Given the description of an element on the screen output the (x, y) to click on. 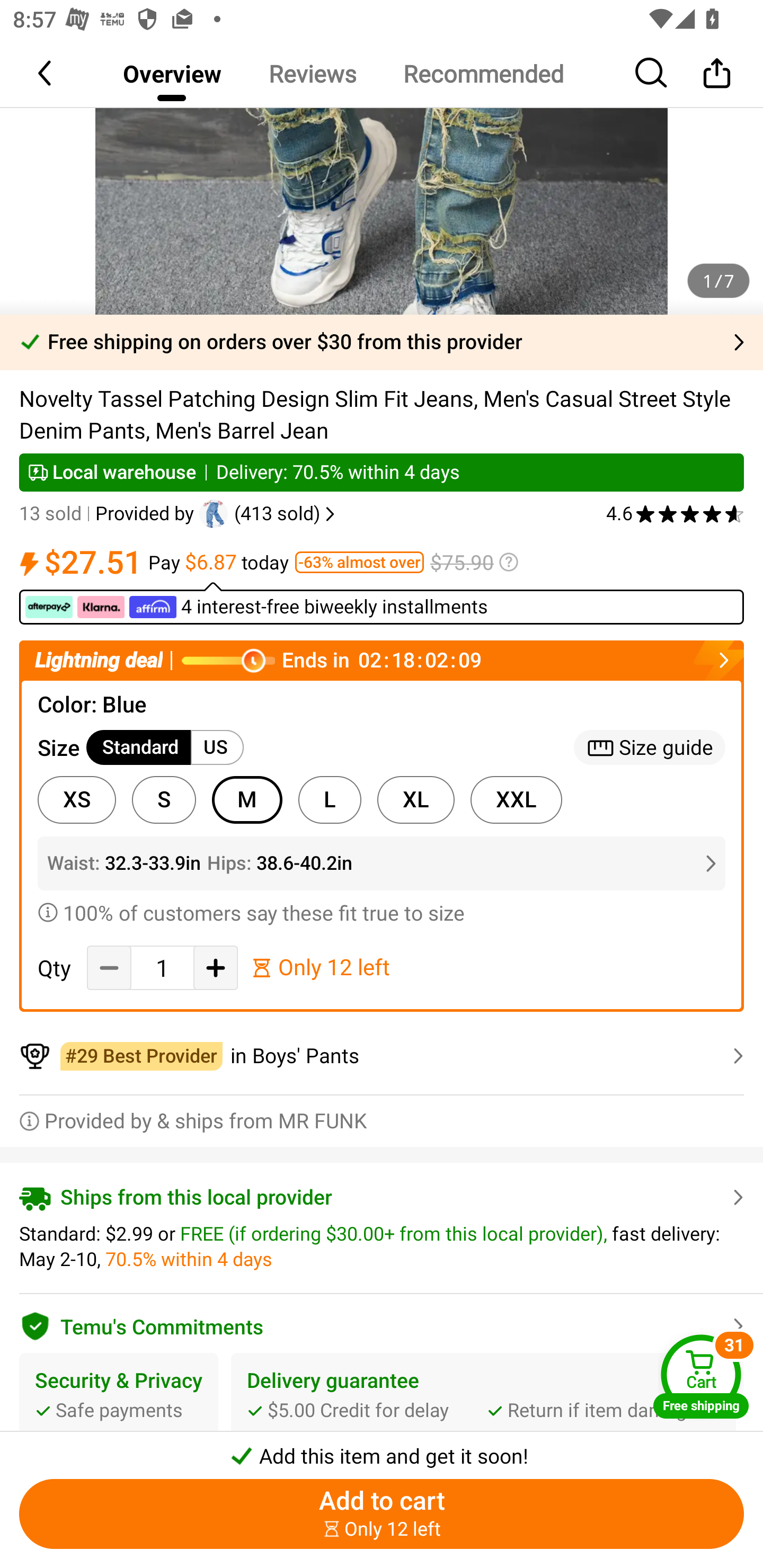
Overview (171, 72)
Reviews (311, 72)
Recommended (482, 72)
Back (46, 72)
Share (716, 72)
Local warehouse Delivery: 70.5% within 4 days (381, 472)
13 sold Provided by  (109, 514)
4.6 (674, 514)
￼ ￼ ￼ 4 interest-free biweekly installments (381, 602)
Lightning deal Ends in￼￼ (381, 659)
Standard (138, 747)
US (216, 747)
 Size guide (649, 747)
XS (76, 799)
S (163, 799)
M (247, 799)
L (329, 799)
XL (415, 799)
XXL (516, 799)
Waist: 32.3-33.9in￼Hips: 38.6-40.2in￼ (381, 862)
  100% of customers say these fit true to size (381, 912)
Decrease Quantity Button (108, 967)
Add Quantity button (215, 967)
1 (162, 968)
￼￼in Boys' Pants (381, 1055)
Temu's Commitments (381, 1323)
Cart Free shipping Cart (701, 1375)
Security & Privacy Safe payments Secure privacy (118, 1410)
Add to cart ￼￼Only 12 left (381, 1513)
